Given the description of an element on the screen output the (x, y) to click on. 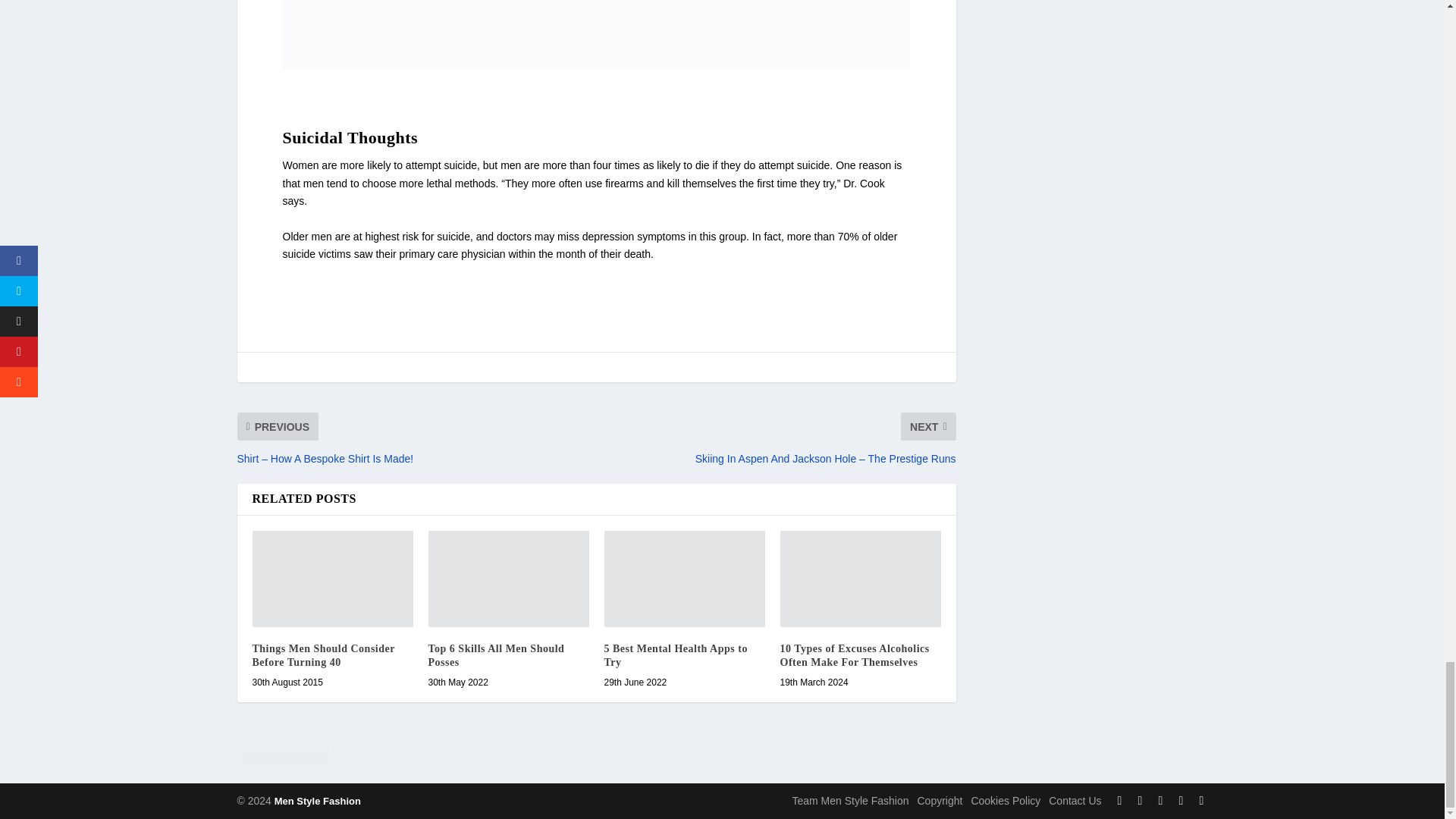
Top 6 Skills All Men Should Posses (508, 578)
DMCA.com Protection Status (595, 759)
5 Best Mental Health Apps to Try (684, 578)
Things Men Should Consider Before Turning 40 (331, 578)
10 Types of Excuses Alcoholics Often Make For Themselves (859, 578)
